Given the description of an element on the screen output the (x, y) to click on. 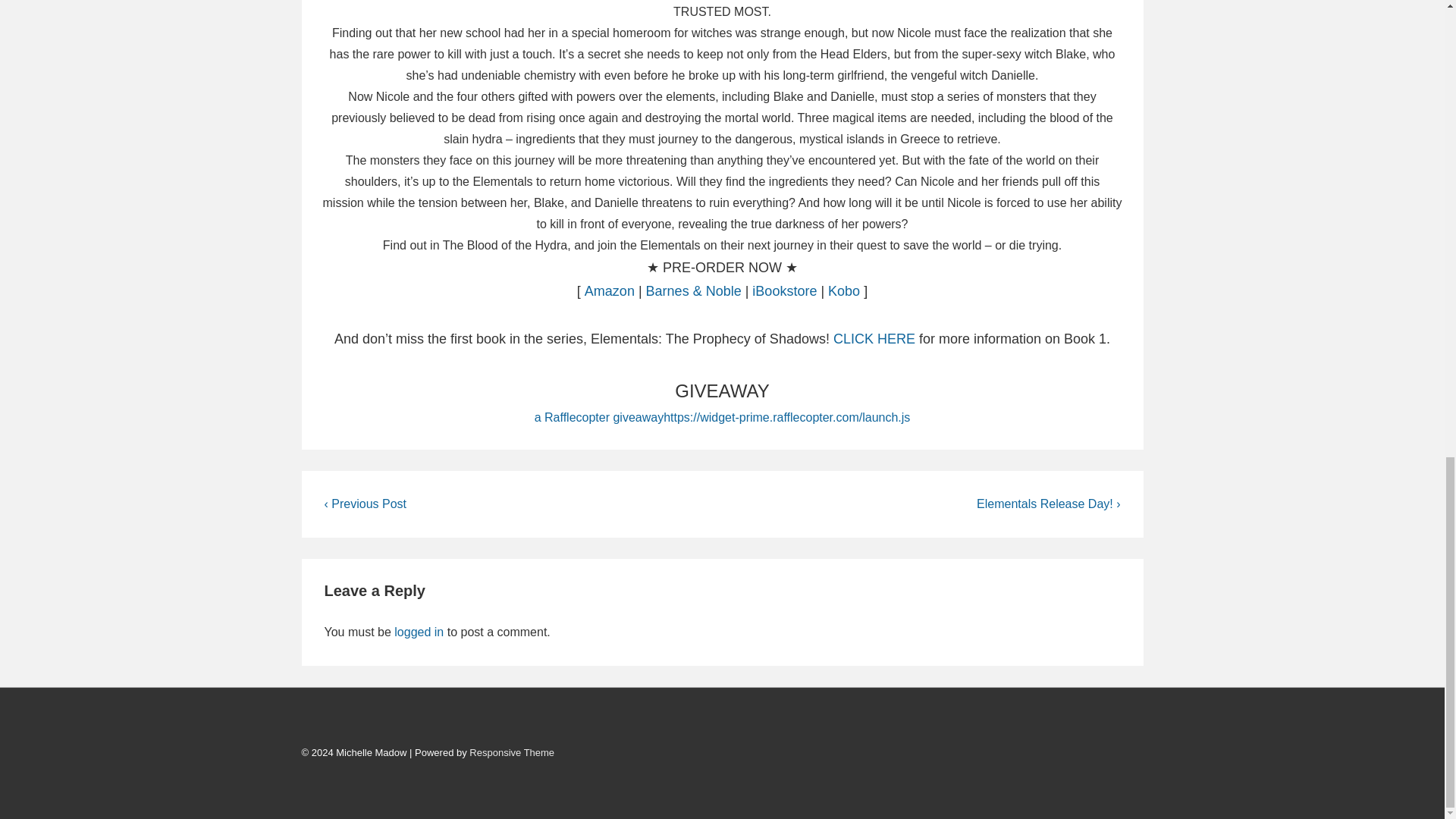
Kobo (844, 290)
CLICK HERE (873, 338)
Amazon (609, 290)
iBookstore (784, 290)
logged in (419, 631)
Responsive Theme (511, 752)
a Rafflecopter giveaway (598, 417)
